Given the description of an element on the screen output the (x, y) to click on. 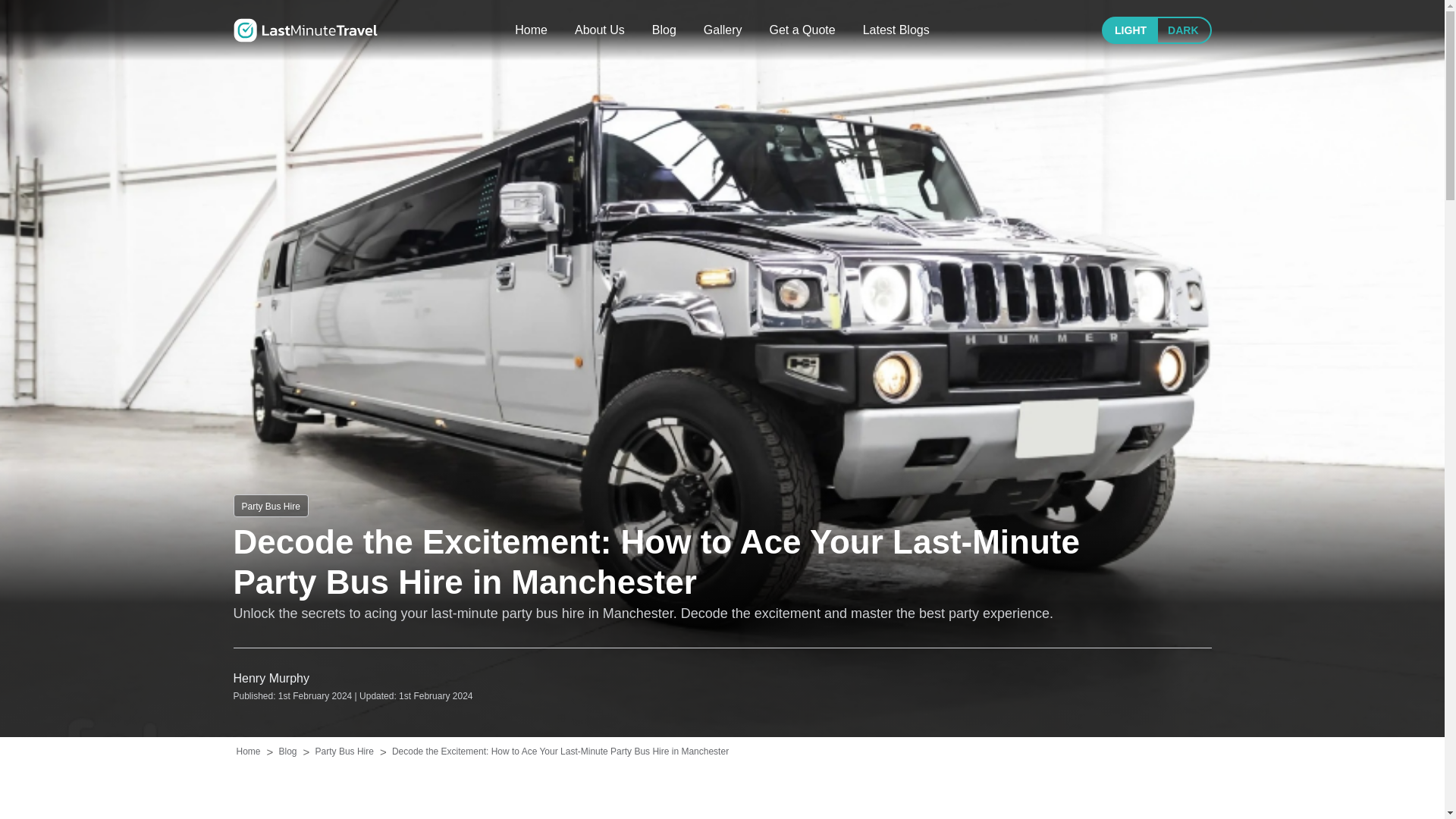
Latest Blogs (896, 30)
Latest Blogs (896, 30)
Last Minute Travel (304, 29)
Get a Quote (801, 30)
Get a Quote (801, 30)
